Given the description of an element on the screen output the (x, y) to click on. 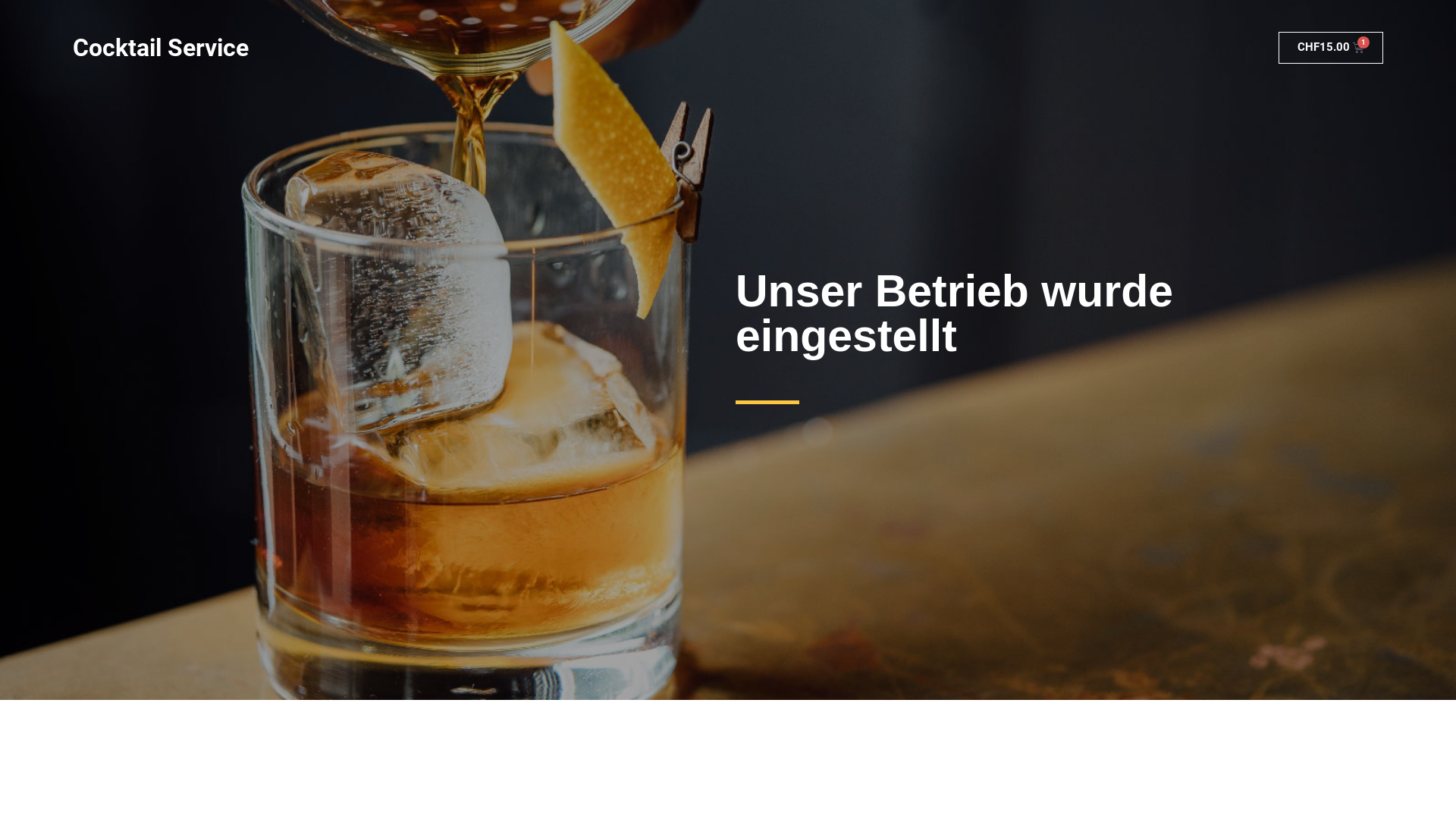
CHF15.00
1 Element type: text (1330, 47)
Cocktail Service Element type: text (160, 47)
